Given the description of an element on the screen output the (x, y) to click on. 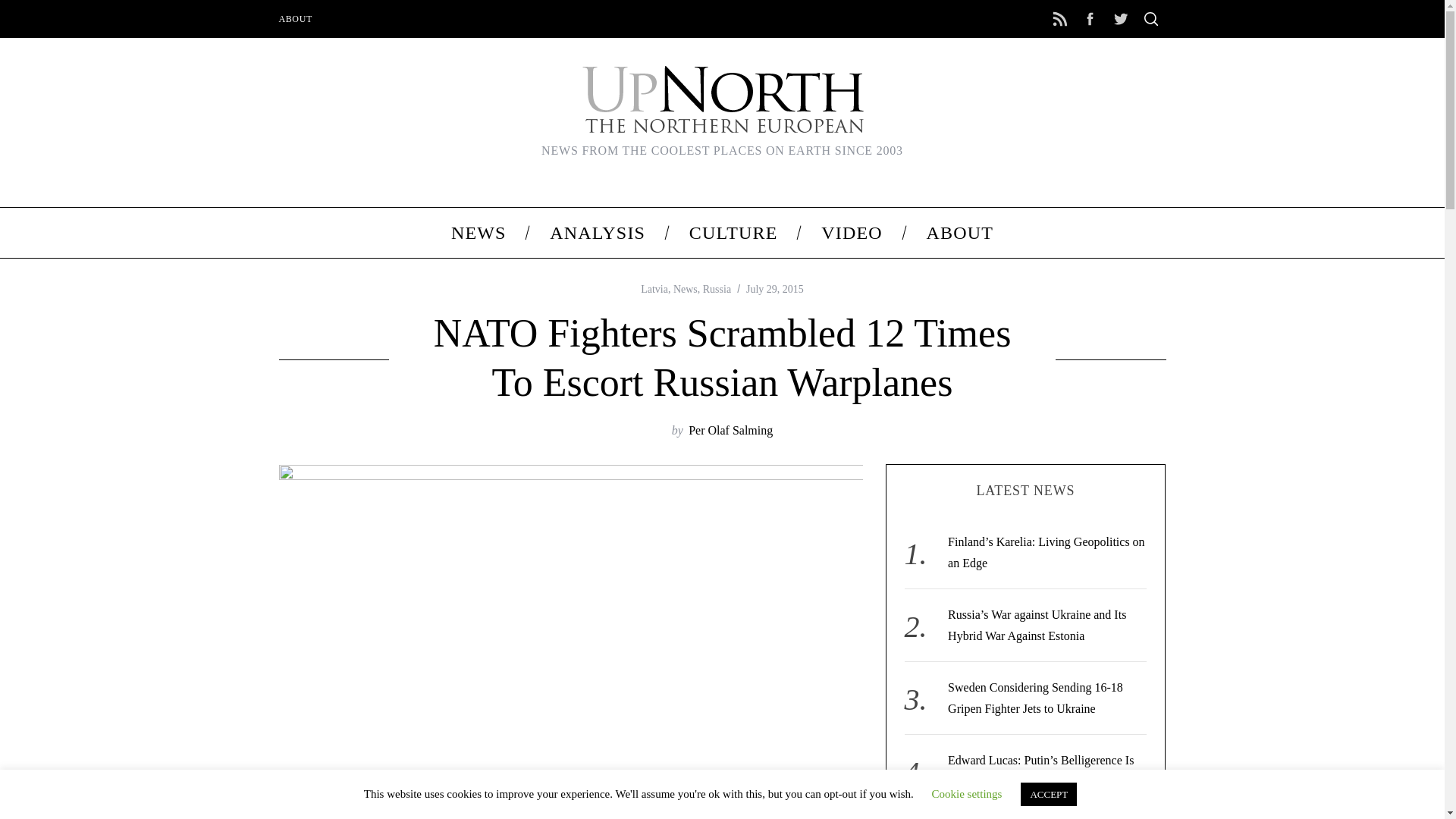
Per Olaf Salming (730, 430)
About UpNorth (959, 232)
VIDEO (851, 232)
Culture (732, 232)
Video (851, 232)
CULTURE (732, 232)
News (684, 288)
News (478, 232)
Russia (716, 288)
ABOUT (959, 232)
